Given the description of an element on the screen output the (x, y) to click on. 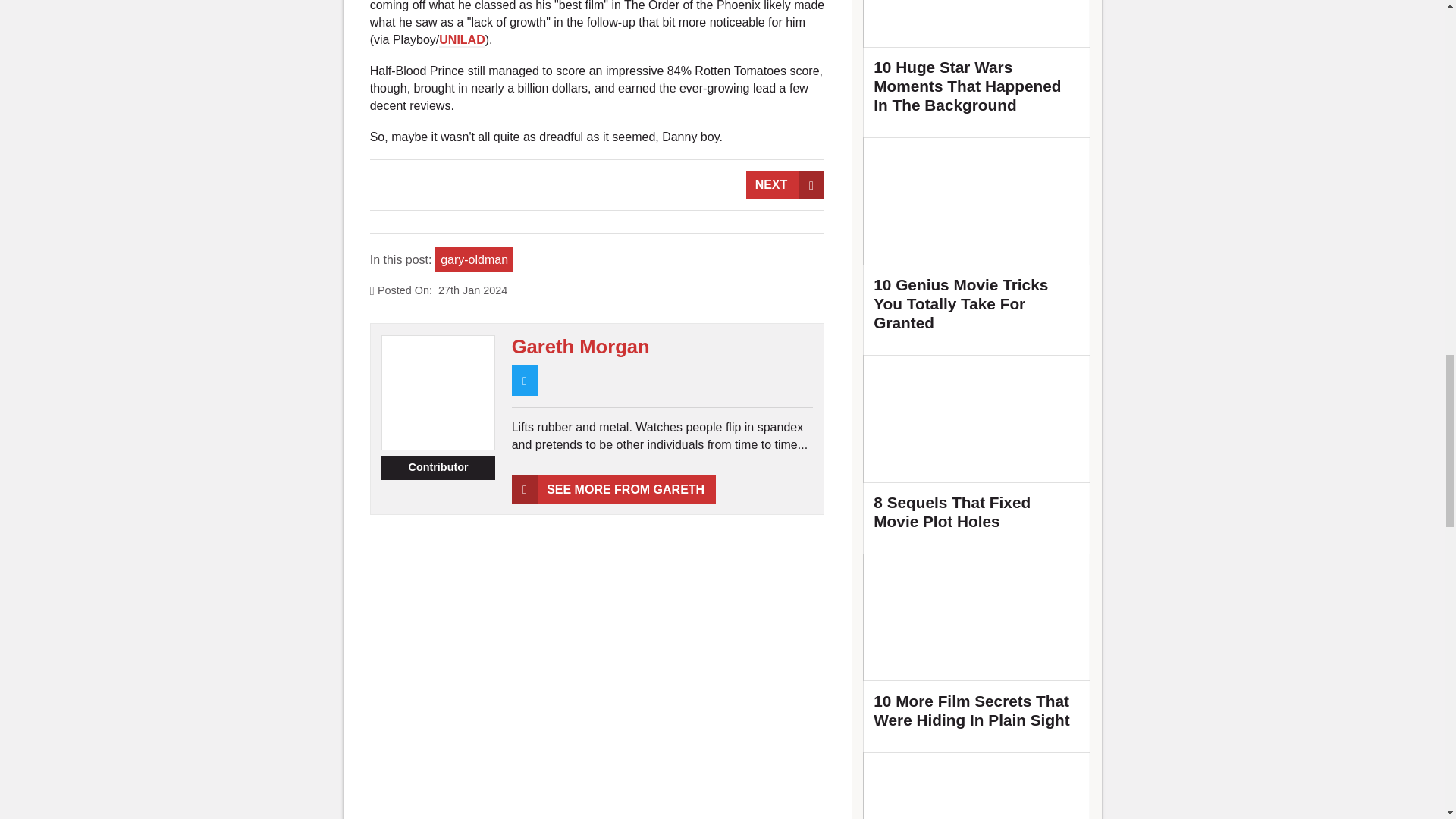
Contributor (438, 467)
10 Genius Movie Tricks You Totally Take For Granted (976, 240)
10 Huge Star Wars Moments That Happened In The Background (976, 63)
8 Sequels That Fixed Movie Plot Holes (976, 448)
